Given the description of an element on the screen output the (x, y) to click on. 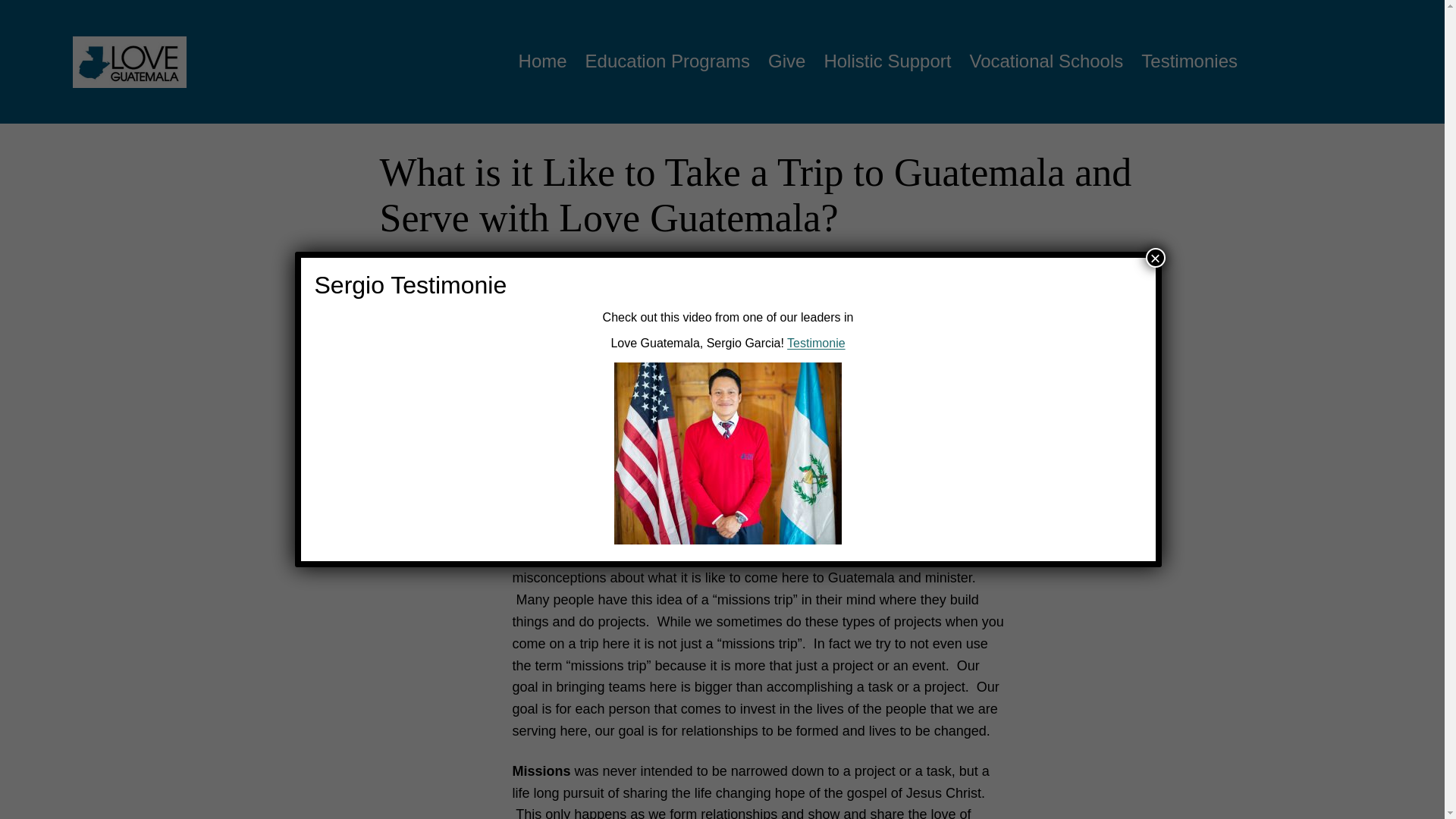
Testimonies (1189, 61)
Education Programs (667, 61)
Vocational Schools (1045, 61)
Home (542, 61)
Testimonie (815, 342)
Holistic Support (887, 61)
Give (786, 61)
